Given the description of an element on the screen output the (x, y) to click on. 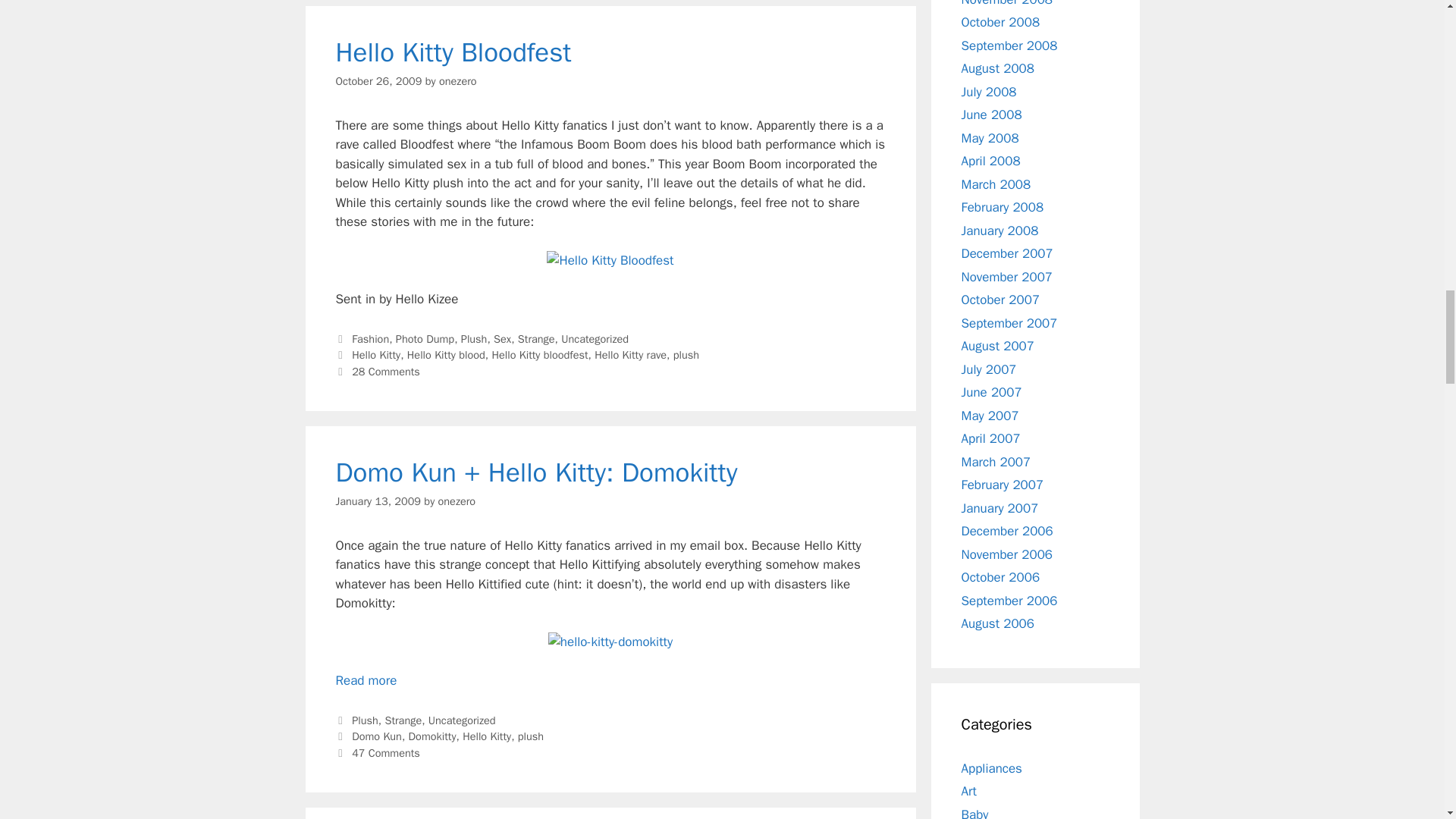
View all posts by onezero (458, 80)
hello kitty bloodfest (609, 260)
View all posts by onezero (457, 500)
hello-kitty-domokitty (610, 641)
